Given the description of an element on the screen output the (x, y) to click on. 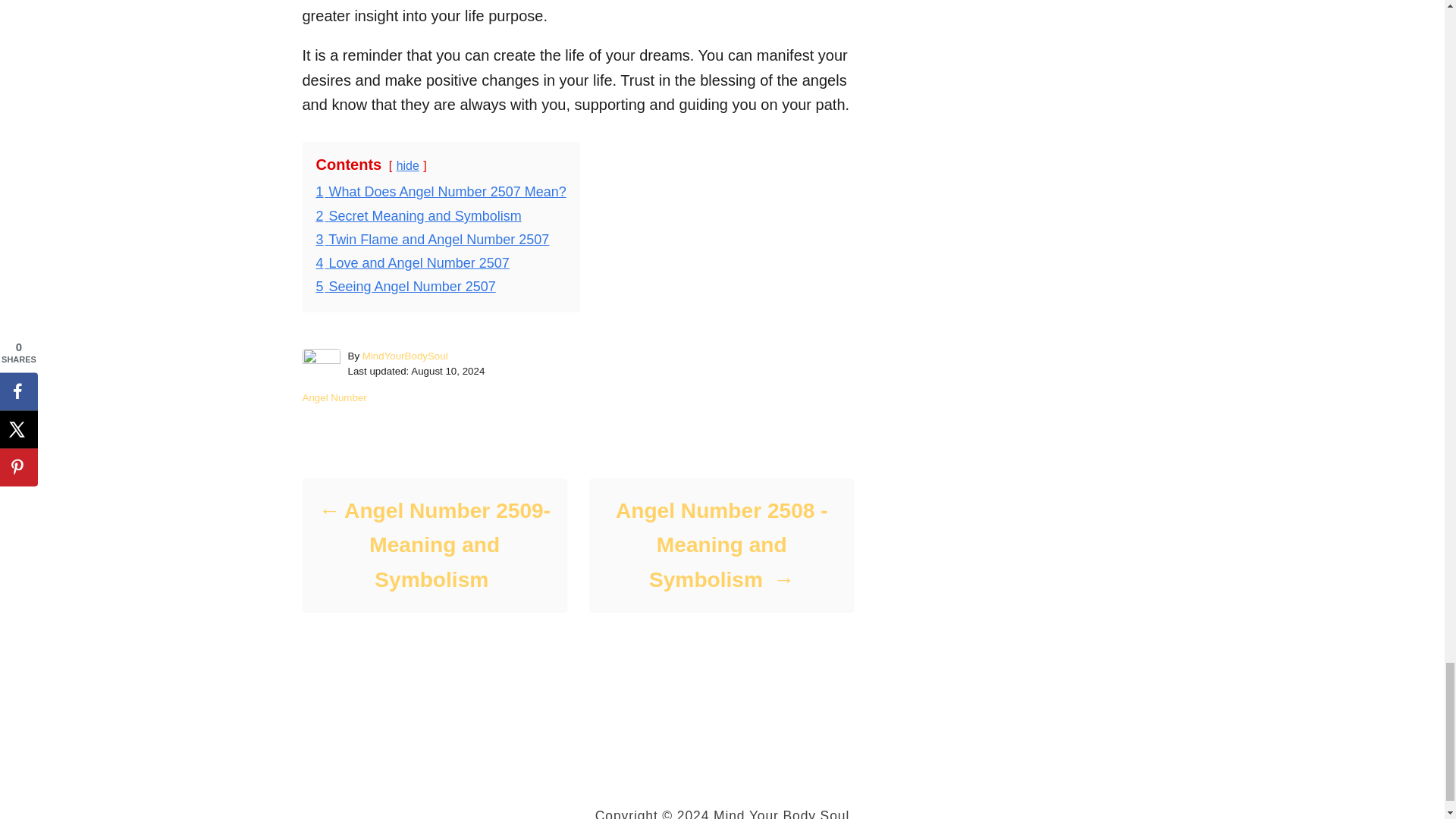
Angel Number (333, 397)
1 What Does Angel Number 2507 Mean? (440, 191)
2 Secret Meaning and Symbolism (418, 215)
3 Twin Flame and Angel Number 2507 (431, 239)
Angel Number 2509- Meaning and Symbolism  (434, 545)
hide (407, 164)
4 Love and Angel Number 2507 (411, 263)
MindYourBodySoul (405, 355)
Angel Number 2508 -Meaning and Symbolism  (721, 545)
5 Seeing Angel Number 2507 (405, 286)
